Given the description of an element on the screen output the (x, y) to click on. 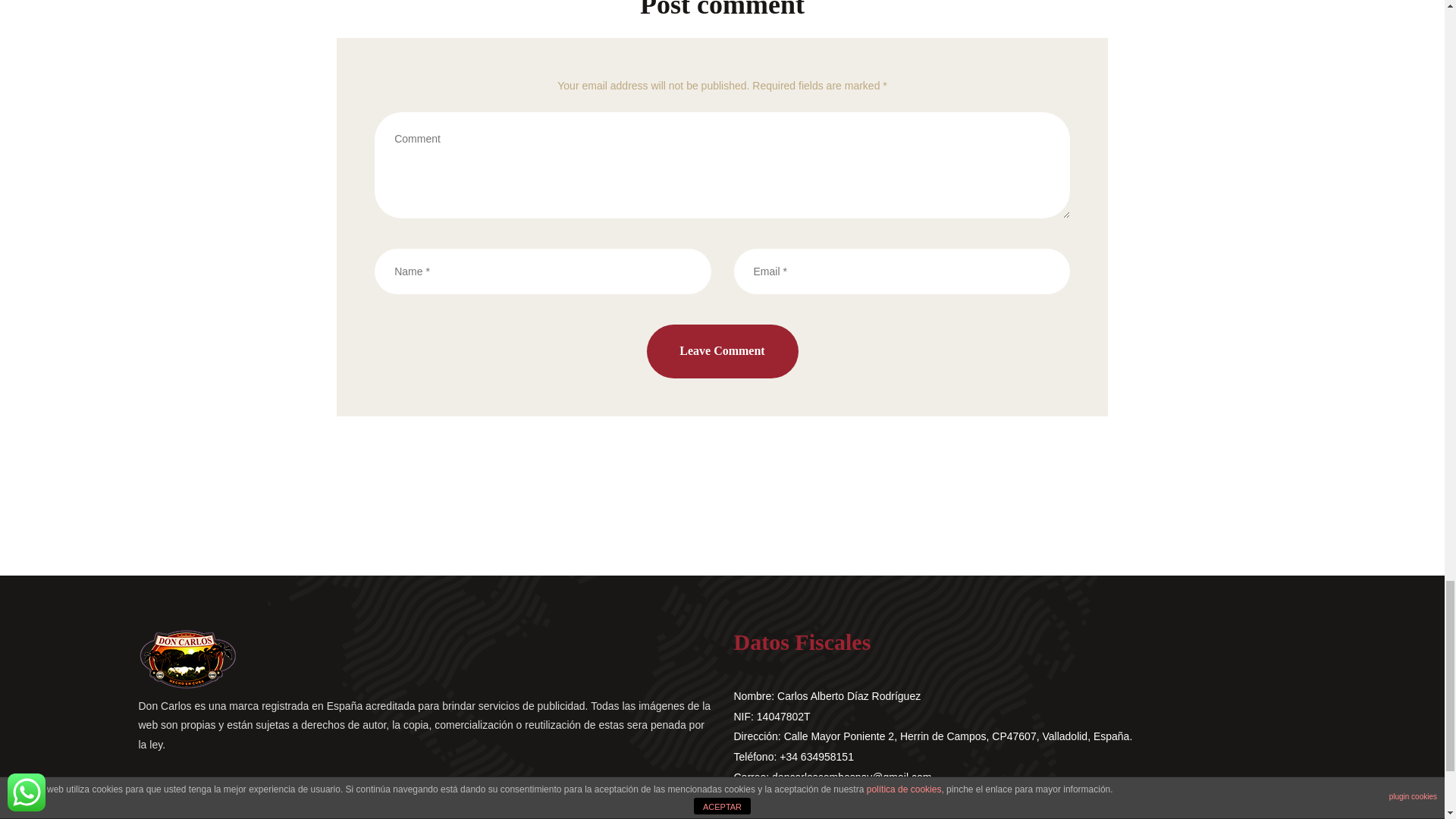
Leave Comment (721, 351)
Leave Comment (721, 351)
